Given the description of an element on the screen output the (x, y) to click on. 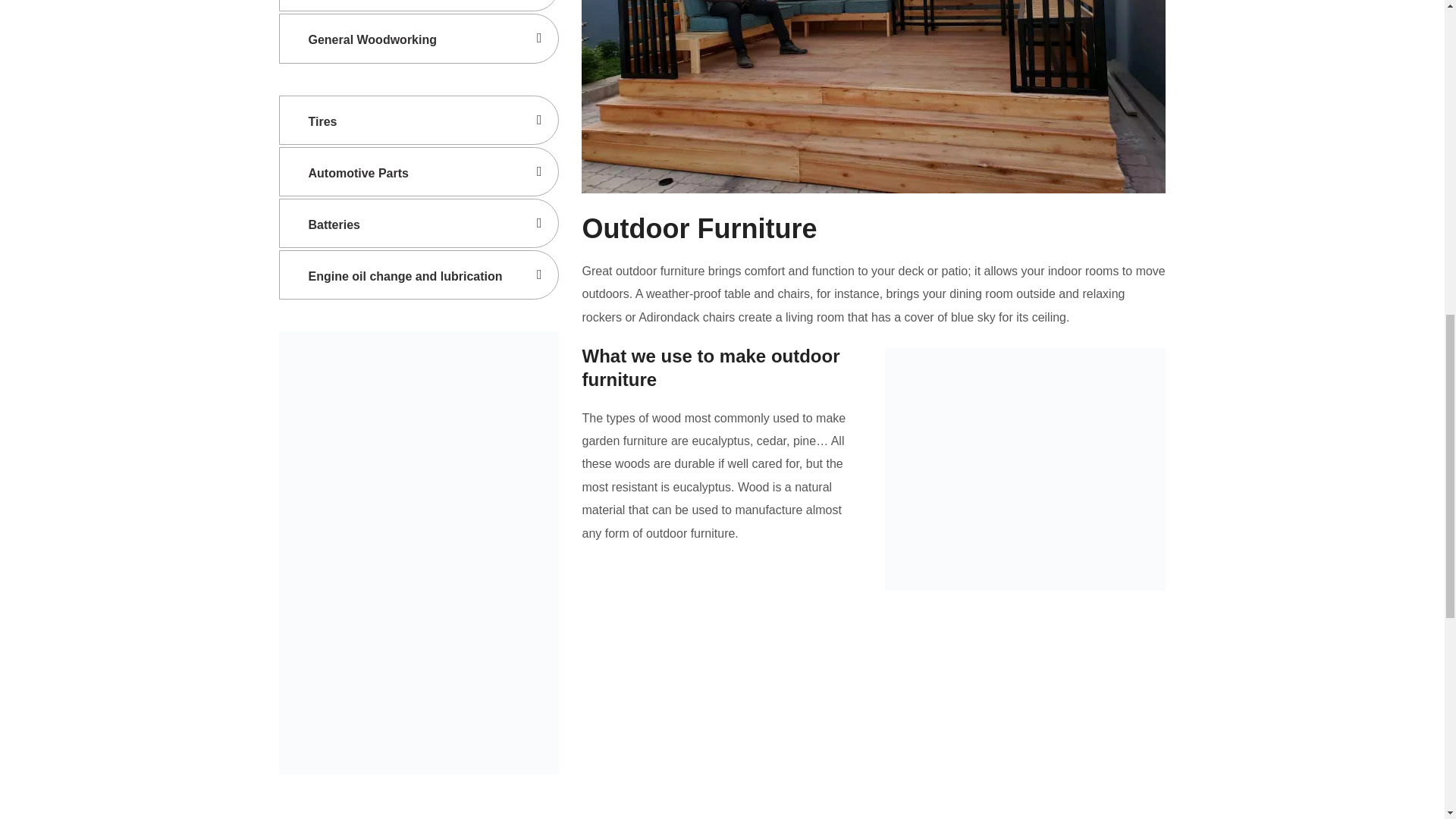
Batteries (419, 223)
General Woodworking (419, 38)
Automotive Parts (419, 171)
Tires (419, 119)
Engine oil change and lubrication (419, 274)
Furniture Remodeling (419, 5)
